Given the description of an element on the screen output the (x, y) to click on. 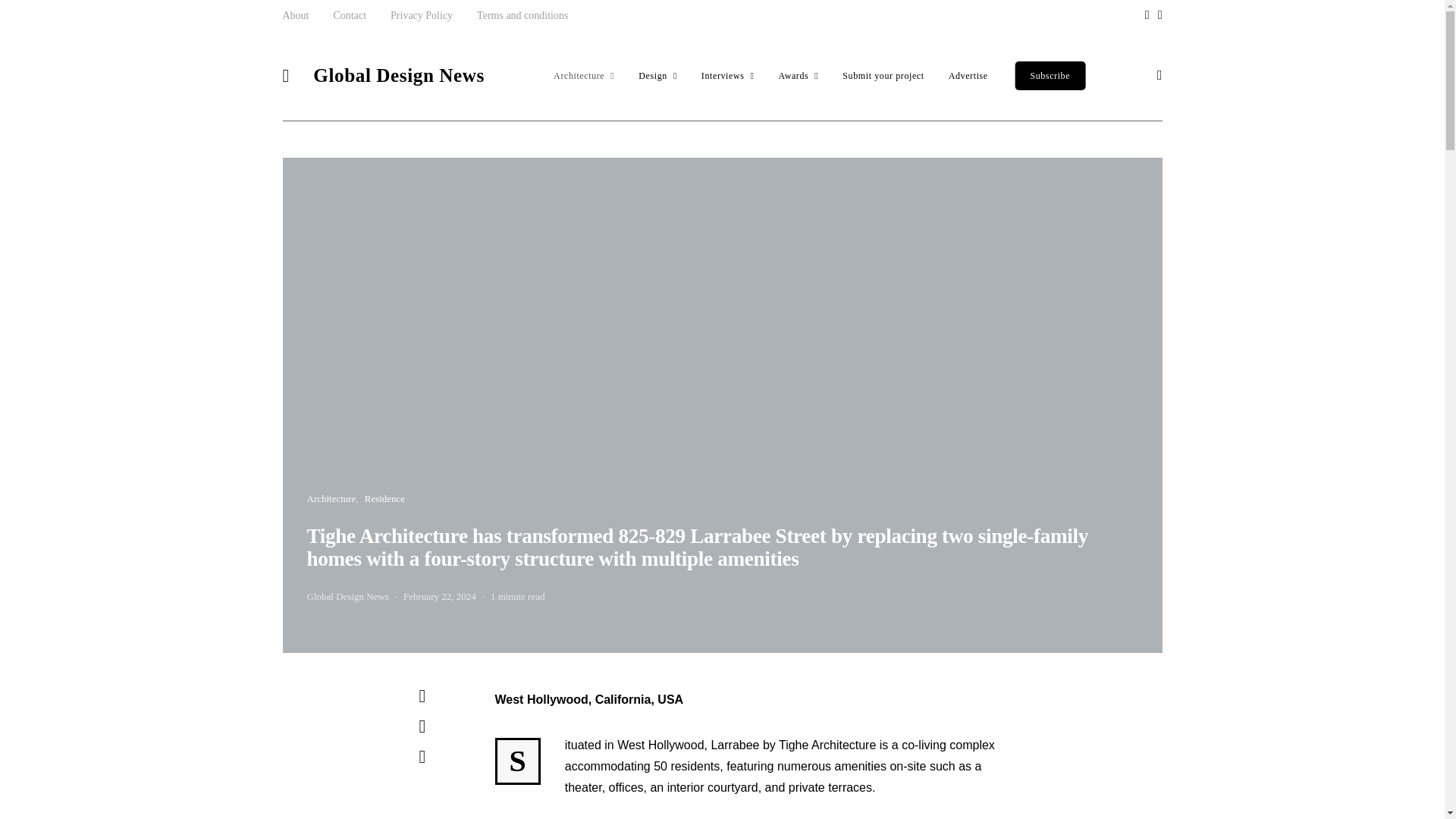
View all posts by Global Design News (346, 595)
